Given the description of an element on the screen output the (x, y) to click on. 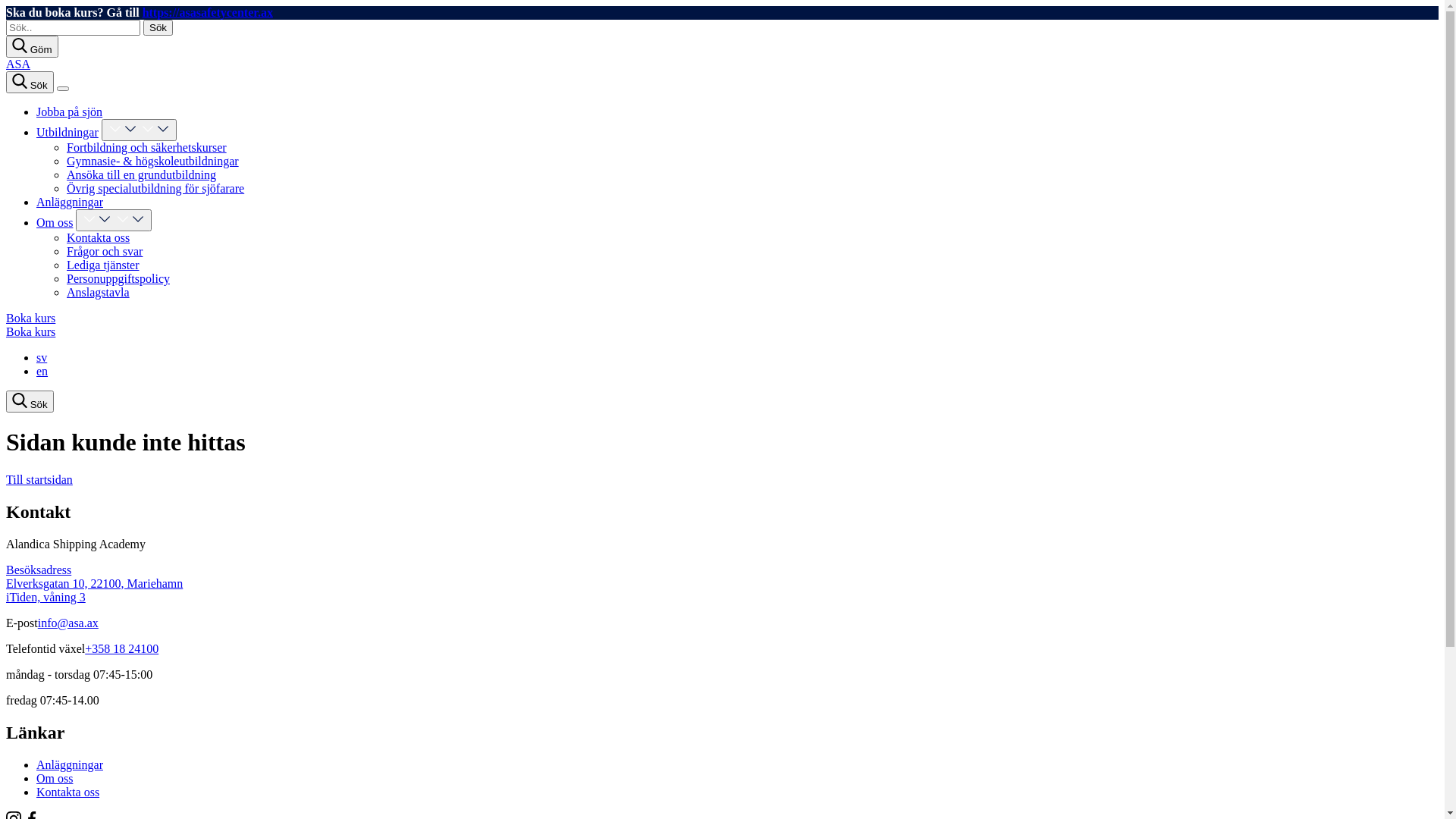
info@asa.ax Element type: text (67, 622)
Kontakta oss Element type: text (67, 791)
Till startsidan Element type: text (39, 479)
Boka kurs Element type: text (30, 317)
en Element type: text (41, 370)
Om oss Element type: text (54, 222)
Om oss Element type: text (54, 777)
Boka kurs Element type: text (30, 331)
Personuppgiftspolicy Element type: text (117, 278)
Kontakta oss Element type: text (97, 237)
Utbildningar Element type: text (67, 131)
https://asasafetycenter.ax Element type: text (207, 12)
sv Element type: text (41, 357)
ASA Element type: text (18, 63)
Anslagstavla Element type: text (97, 291)
+358 18 24100 Element type: text (121, 648)
